Given the description of an element on the screen output the (x, y) to click on. 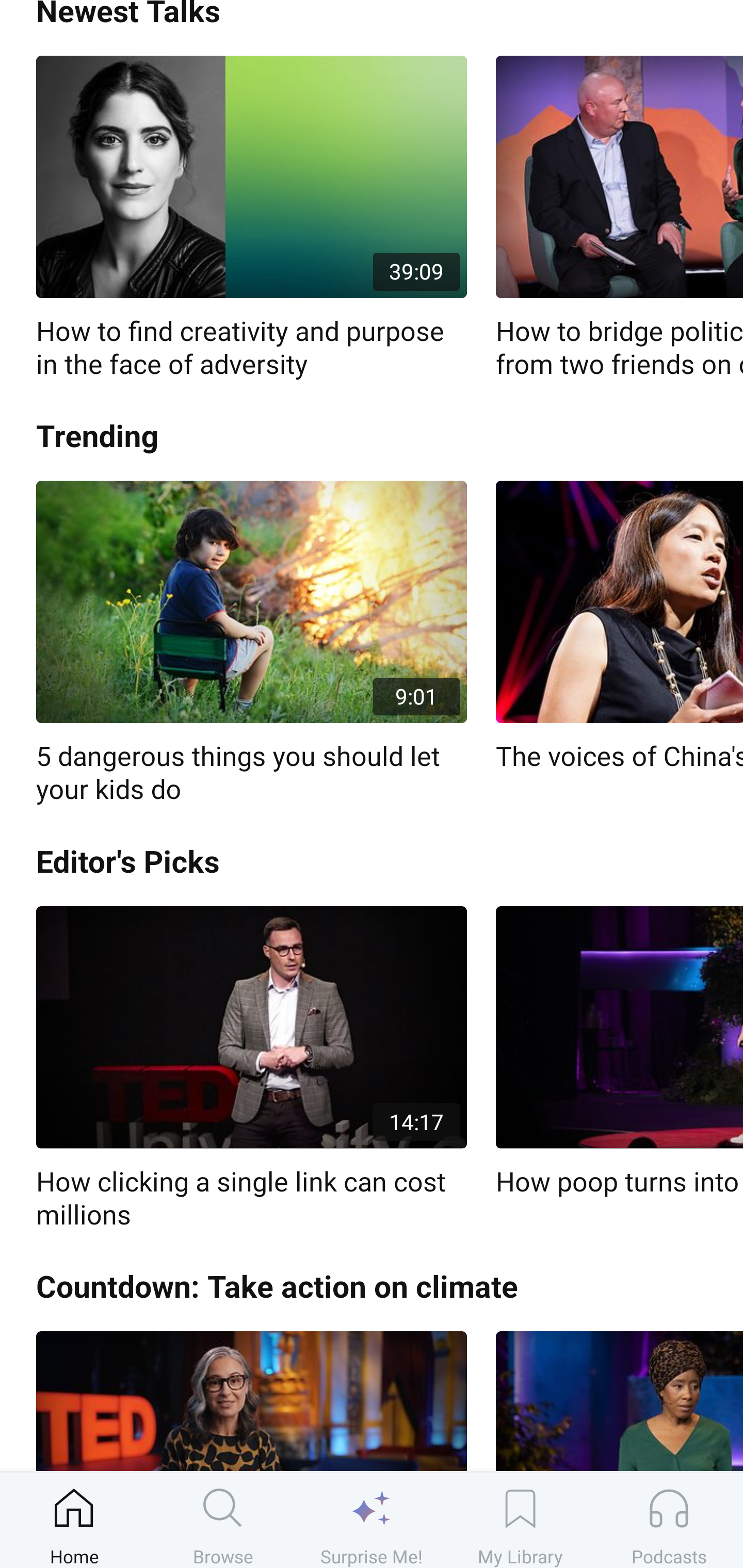
The voices of China's workers (619, 627)
14:17 How clicking a single link can cost millions (251, 1069)
How poop turns into forests (619, 1051)
Home (74, 1520)
Browse (222, 1520)
Surprise Me! (371, 1520)
My Library (519, 1520)
Podcasts (668, 1520)
